Given the description of an element on the screen output the (x, y) to click on. 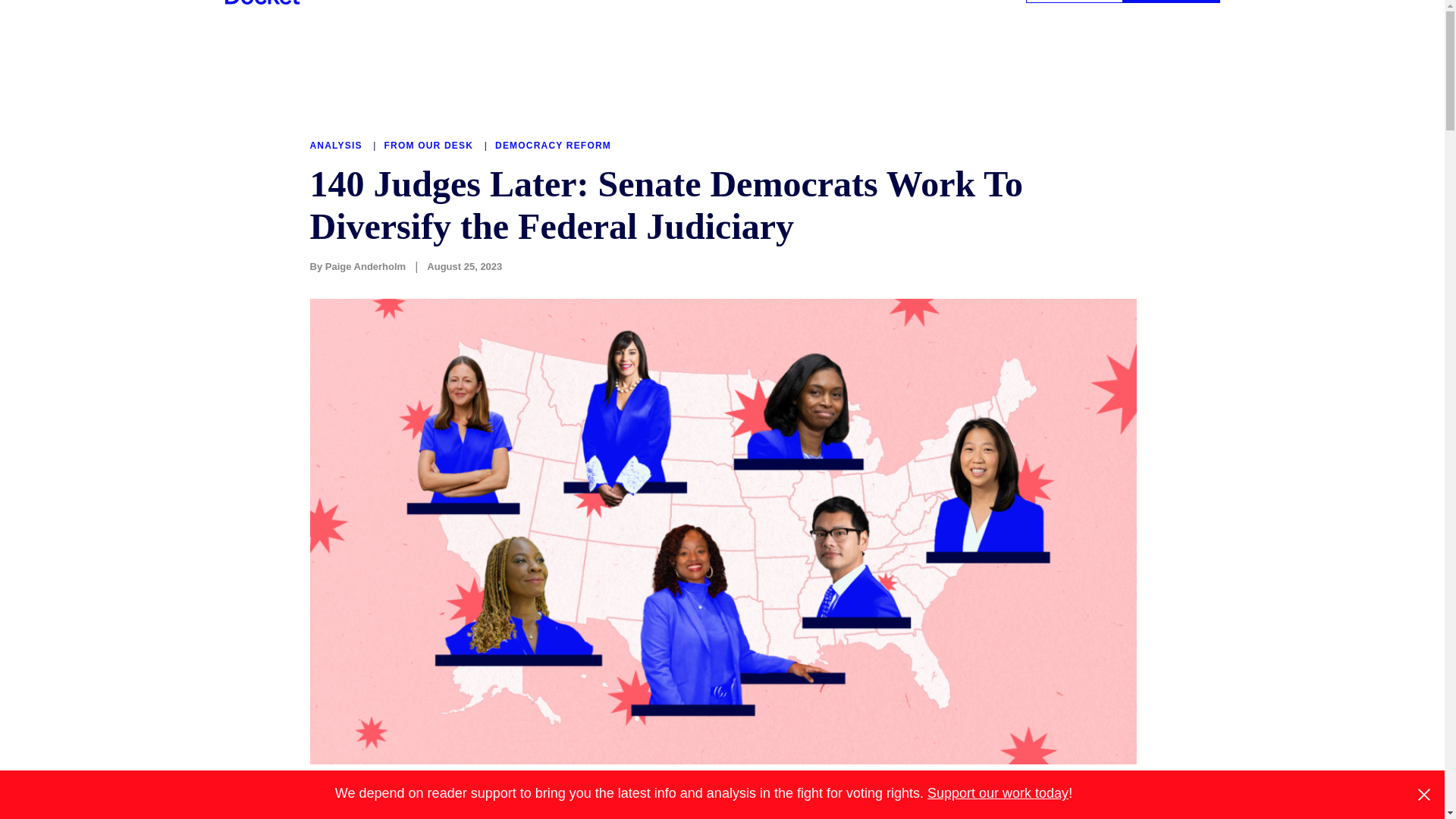
SUPPORT (1073, 1)
ANALYSIS (336, 145)
Paige Anderholm (365, 266)
DEMOCRACY REFORM (553, 145)
SUBSCRIBE (1171, 1)
FROM OUR DESK (430, 145)
